Given the description of an element on the screen output the (x, y) to click on. 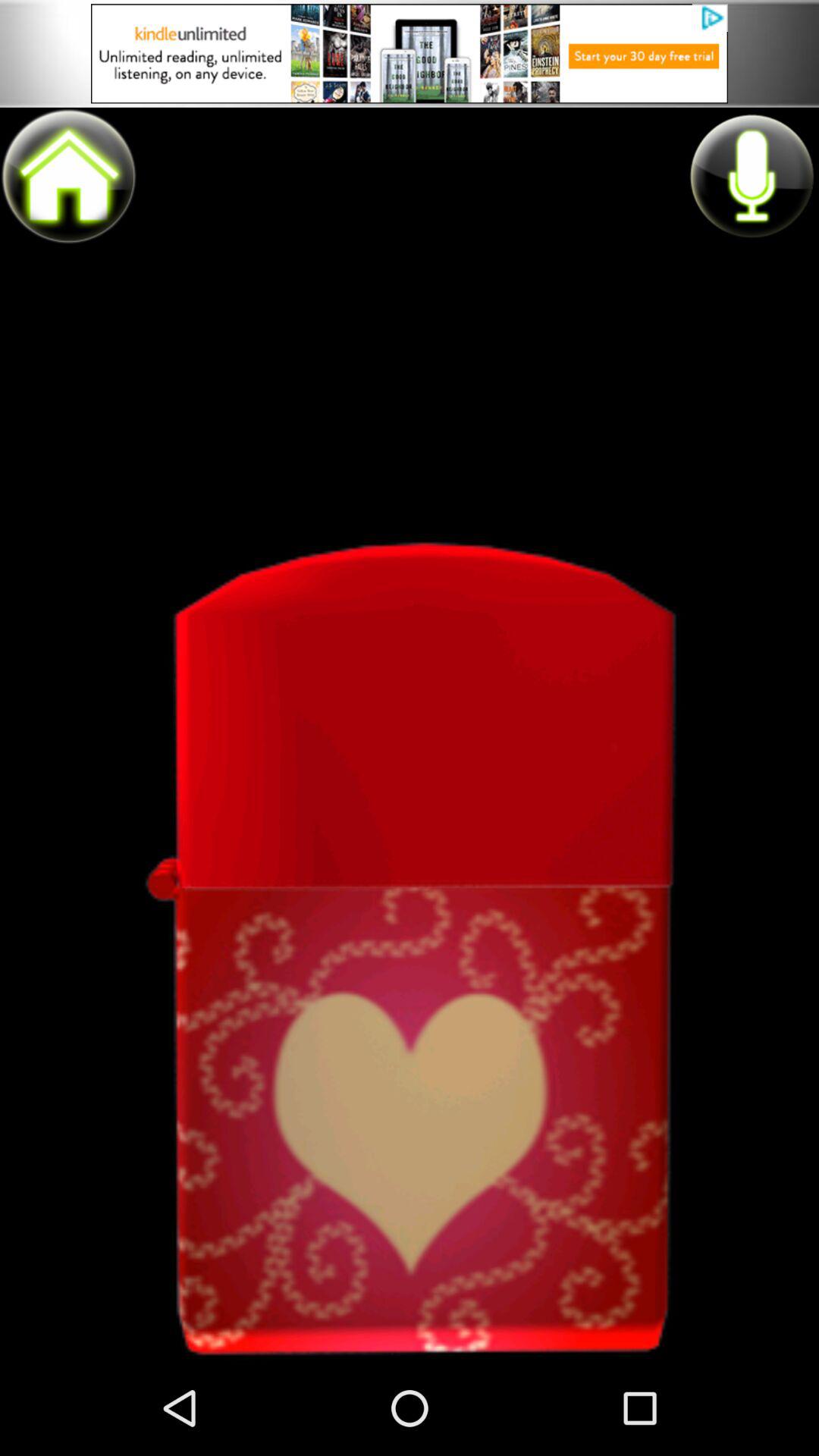
activates microphone (751, 175)
